Given the description of an element on the screen output the (x, y) to click on. 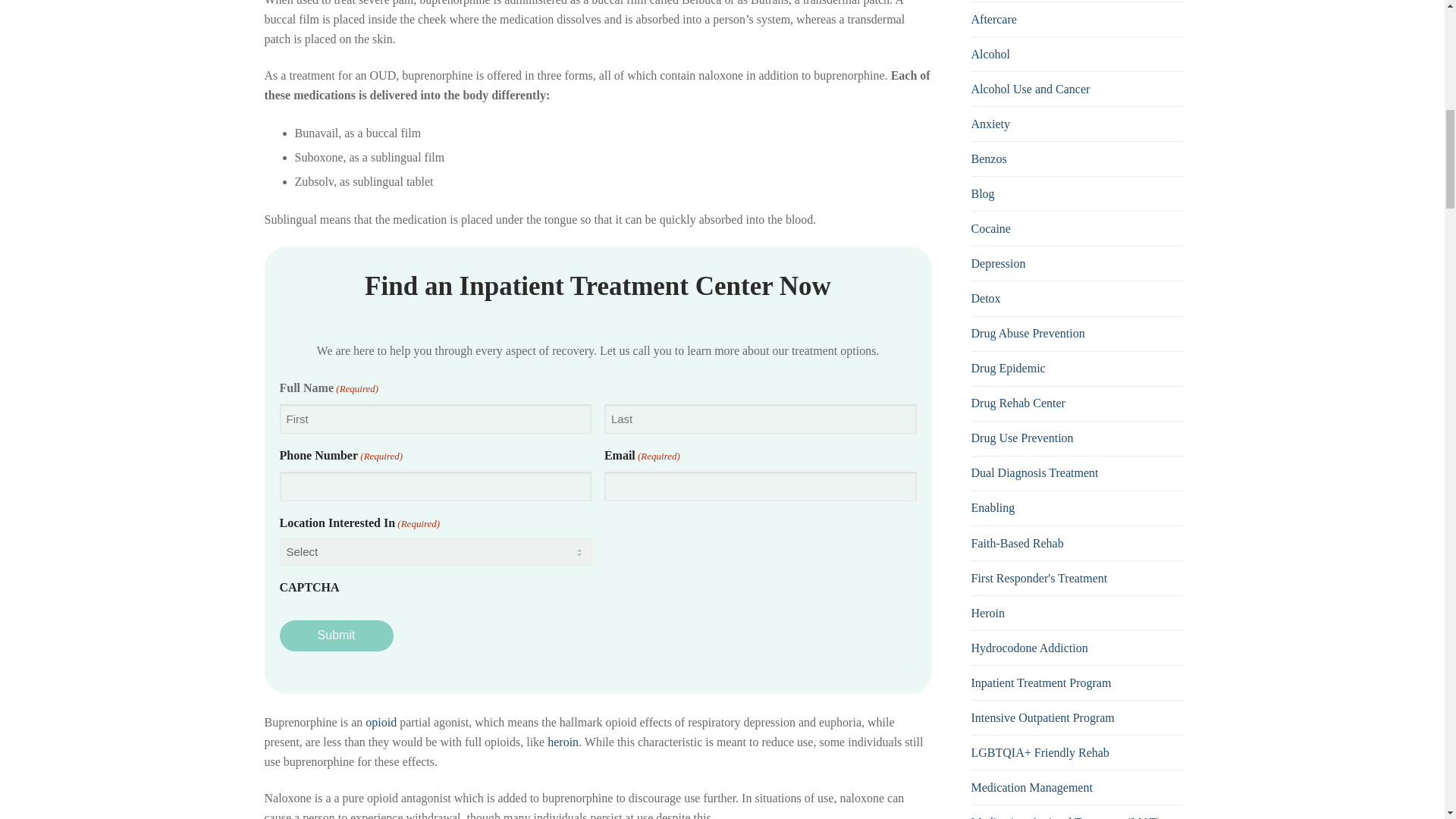
Submit (336, 635)
